Given the description of an element on the screen output the (x, y) to click on. 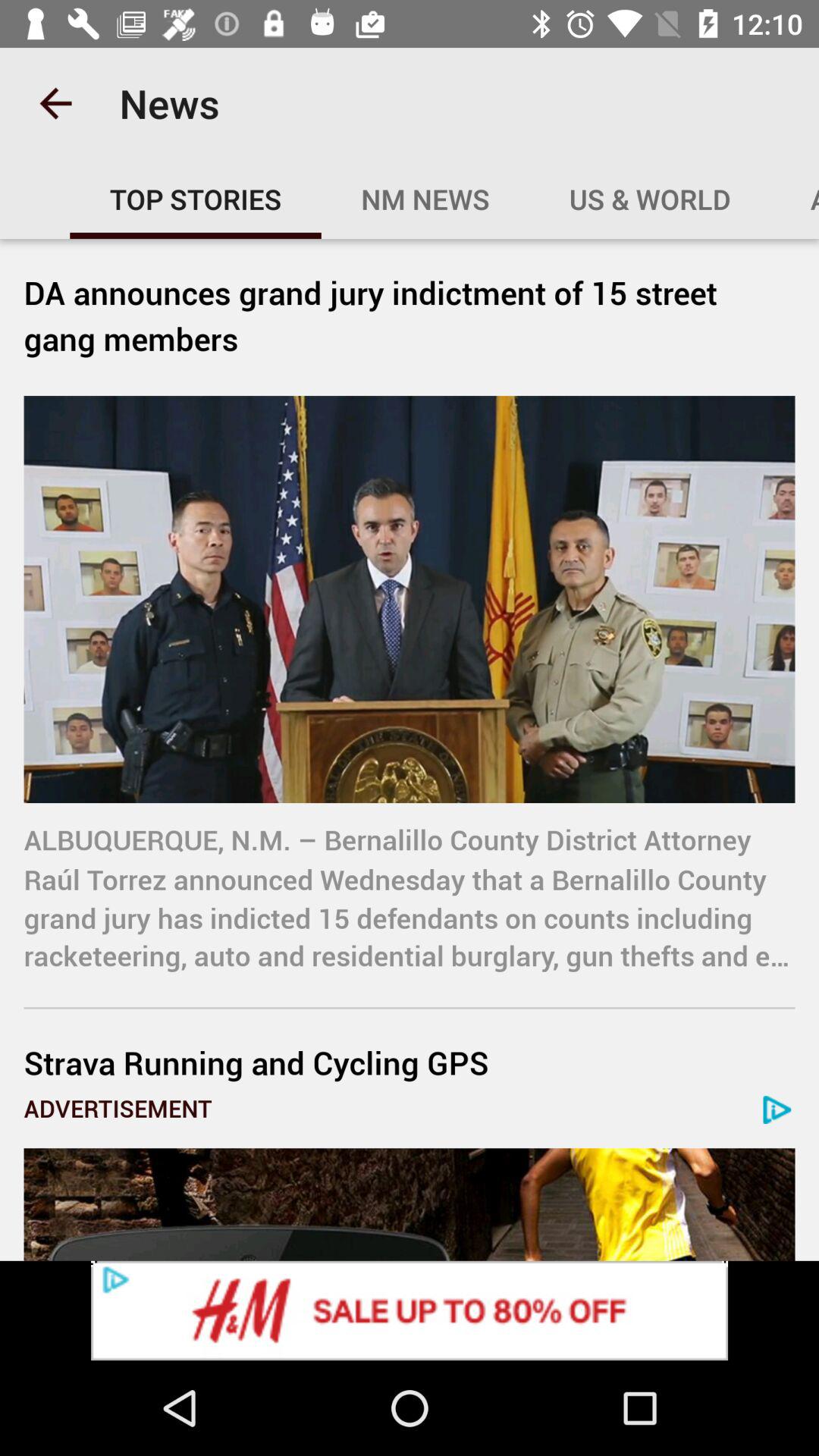
turn on the strava running and item (409, 1062)
